Given the description of an element on the screen output the (x, y) to click on. 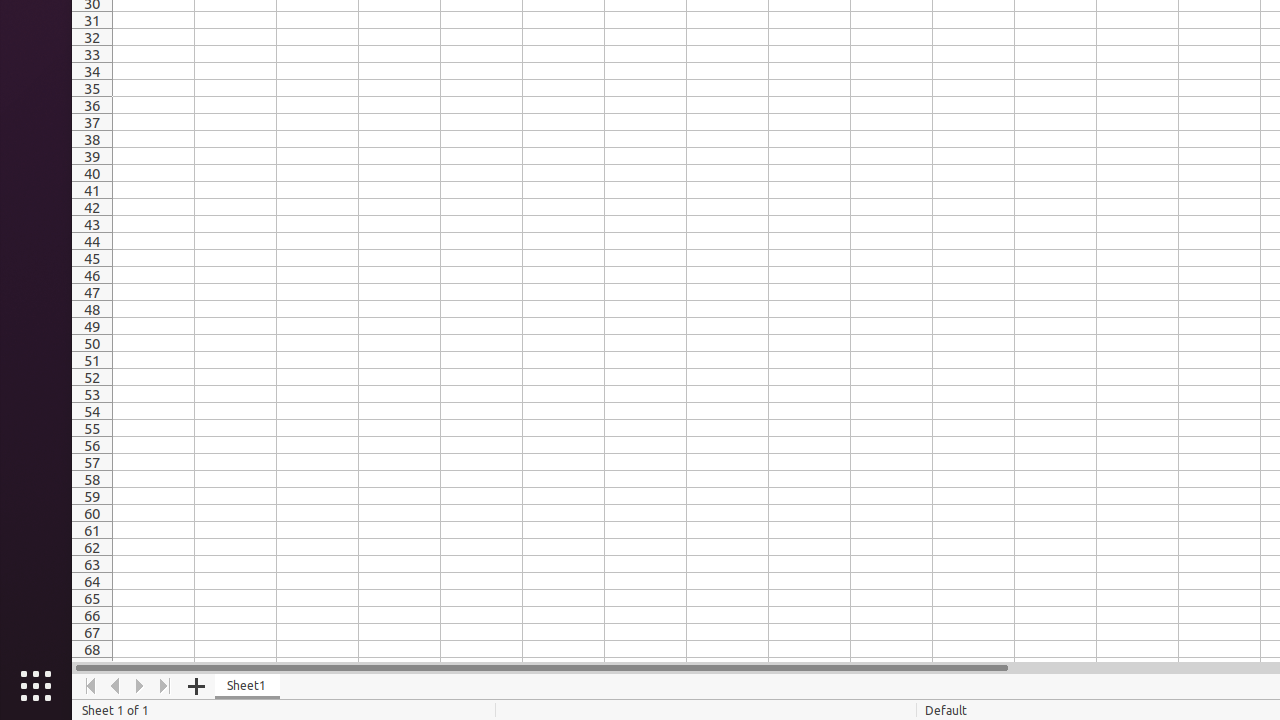
Move To Home Element type: push-button (90, 686)
Move To End Element type: push-button (165, 686)
Move Right Element type: push-button (140, 686)
Move Left Element type: push-button (115, 686)
Show Applications Element type: toggle-button (36, 686)
